Given the description of an element on the screen output the (x, y) to click on. 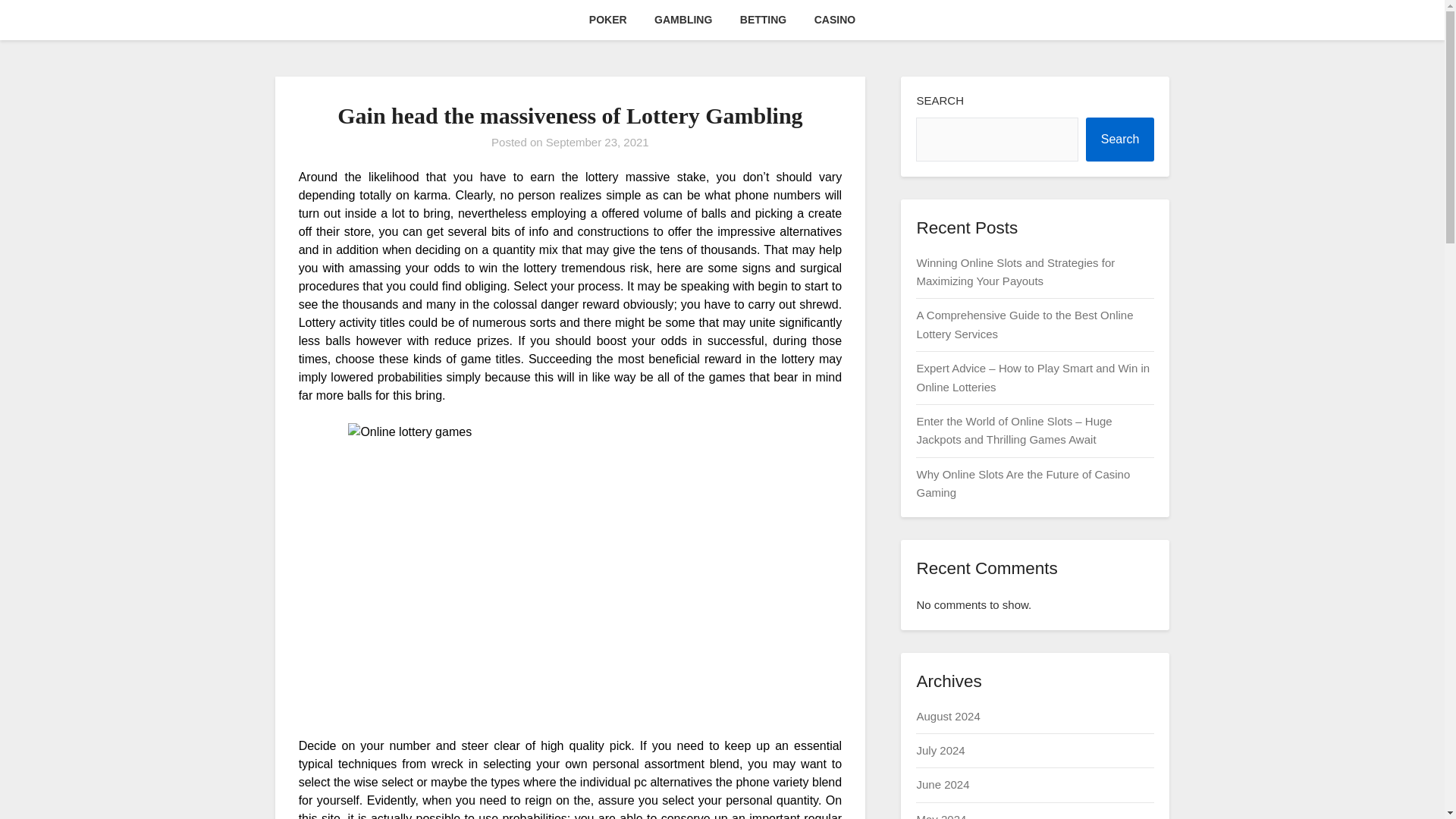
Why Online Slots Are the Future of Casino Gaming (1022, 482)
May 2024 (940, 816)
June 2024 (942, 784)
POKER (607, 20)
July 2024 (939, 749)
August 2024 (947, 716)
CASINO (834, 20)
BETTING (762, 20)
Search (1120, 139)
